Given the description of an element on the screen output the (x, y) to click on. 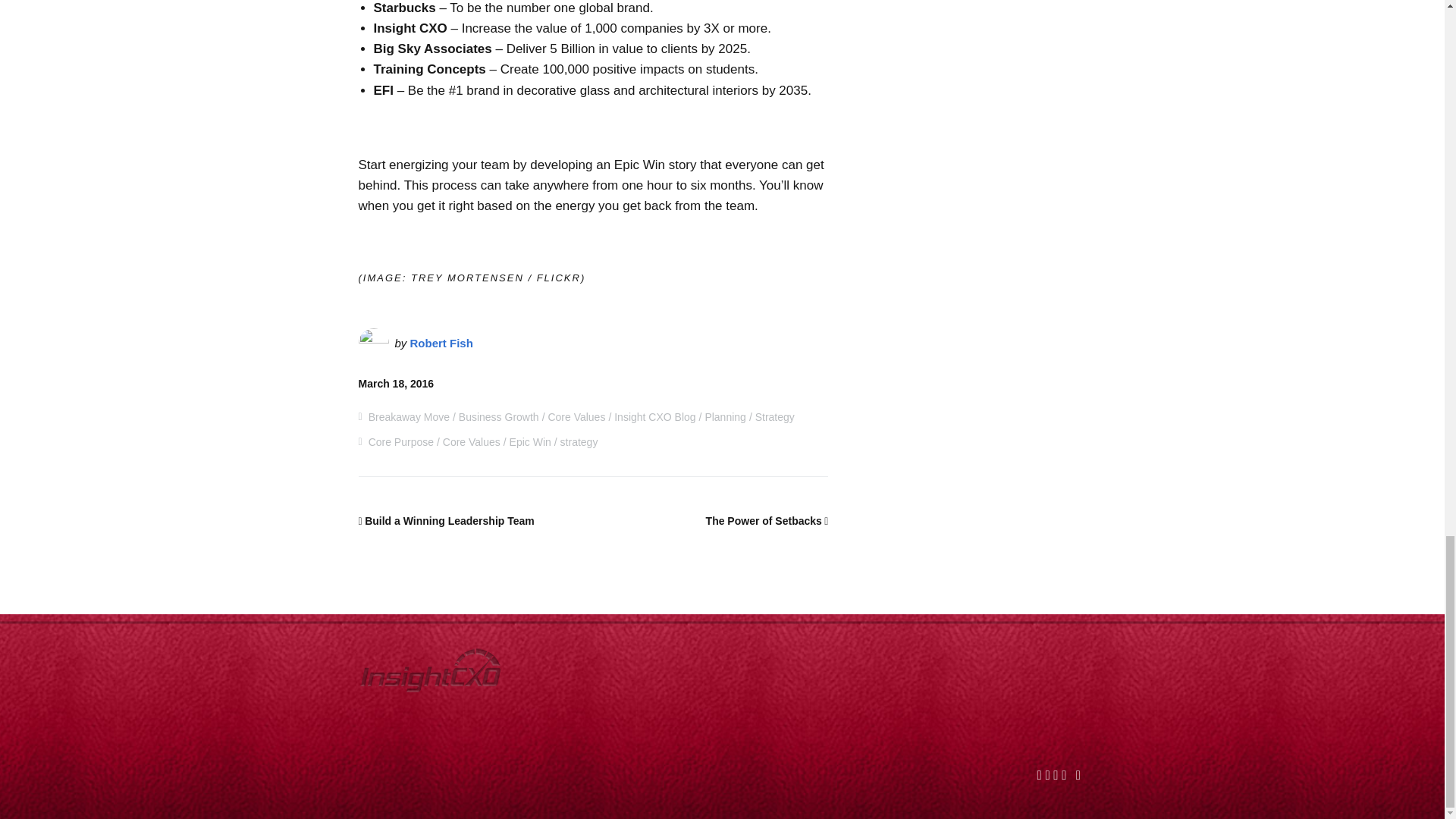
TREY MORTENSEN (467, 277)
Insight CXO Blog (654, 417)
Epic Win (530, 441)
Core Values (576, 417)
The Power of Setbacks (767, 521)
Business Growth (498, 417)
Strategy (774, 417)
Core Purpose (400, 441)
Planning (724, 417)
strategy (579, 441)
